Given the description of an element on the screen output the (x, y) to click on. 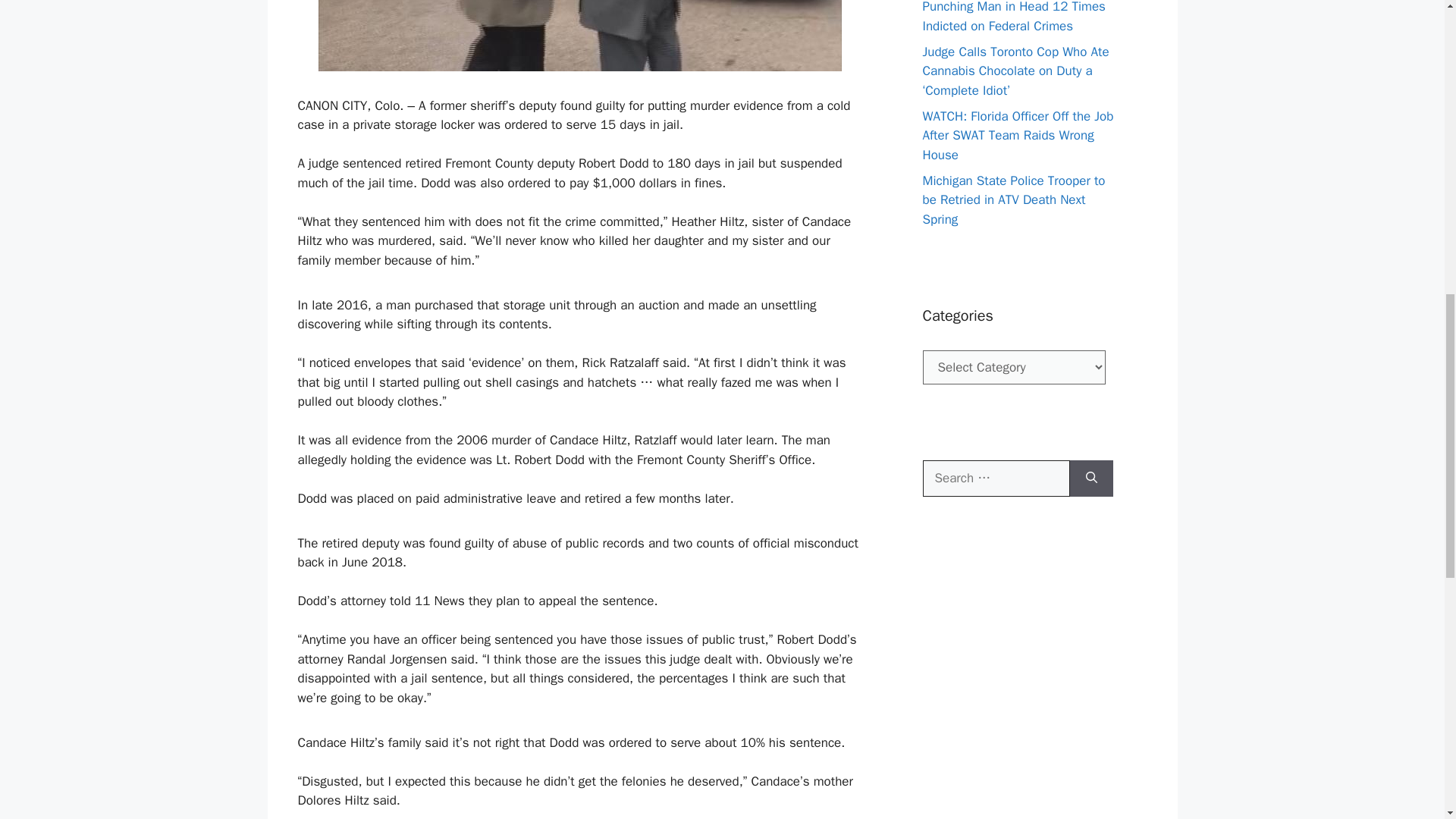
Search for: (994, 478)
